Given the description of an element on the screen output the (x, y) to click on. 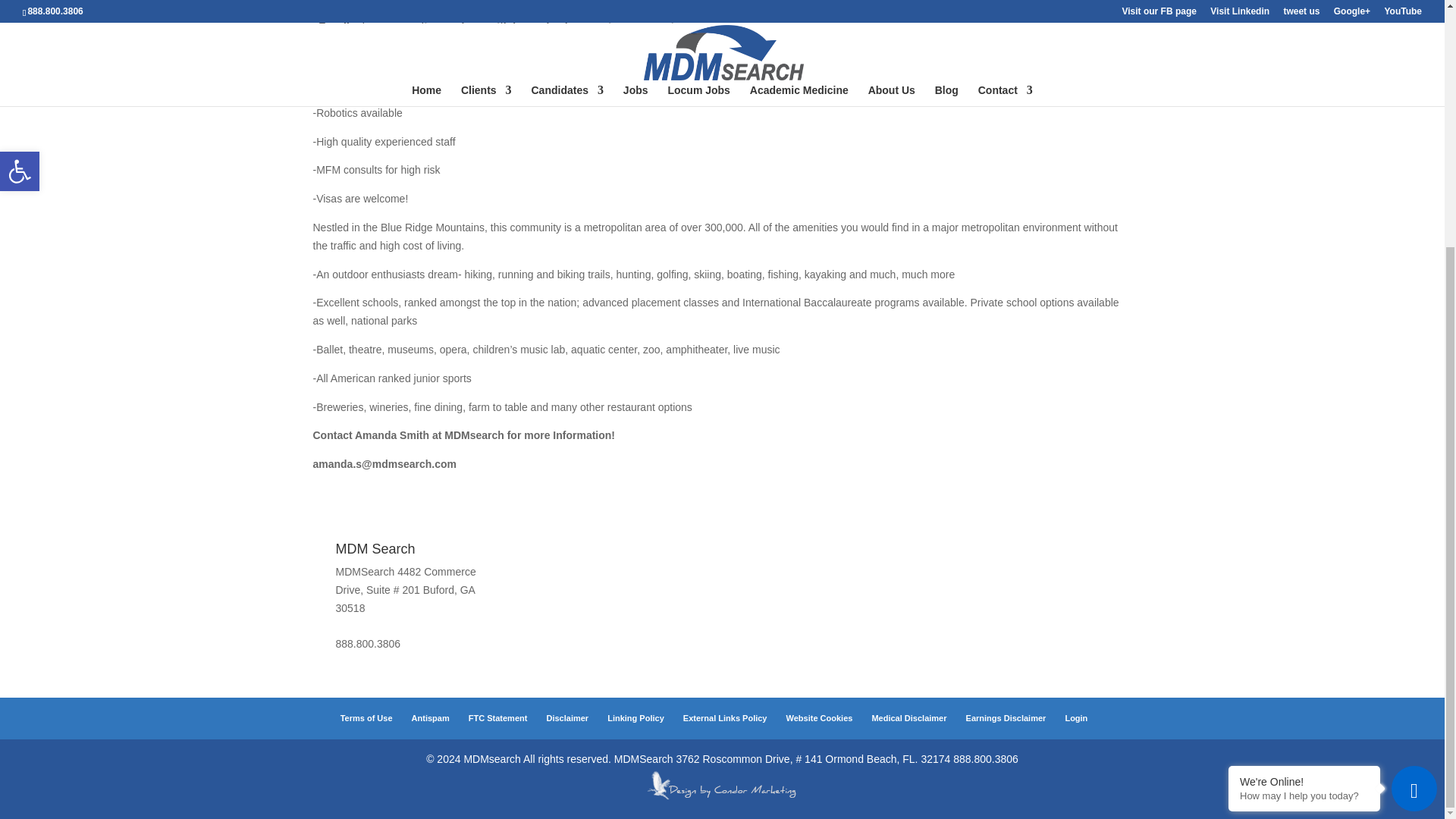
How may I help you today? (1304, 451)
We're Online! (1304, 437)
Website Design (721, 798)
